Given the description of an element on the screen output the (x, y) to click on. 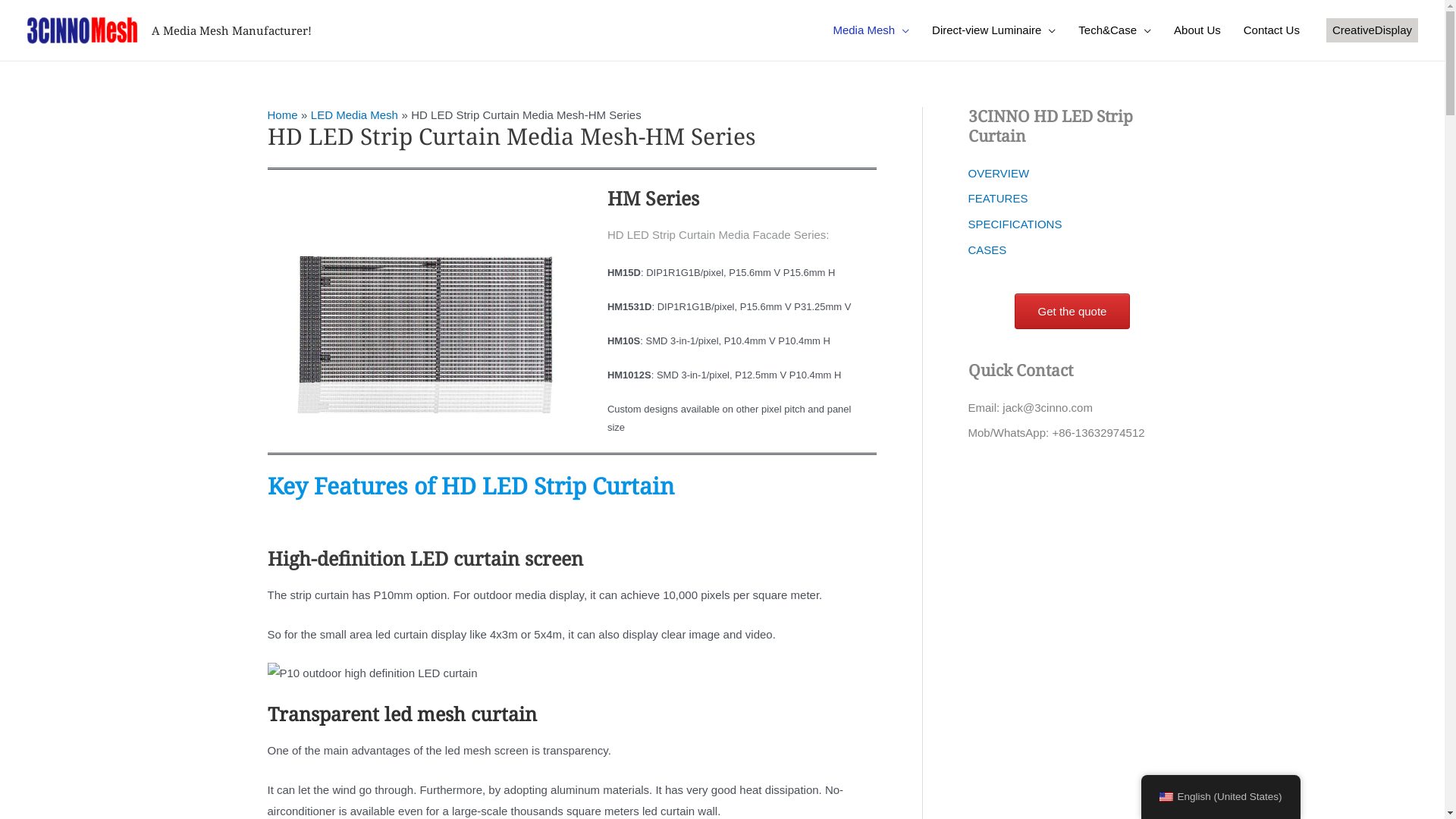
A Media Mesh Manufacturer! Element type: text (231, 29)
SPECIFICATIONS Element type: text (1014, 223)
Get the quote Element type: text (1072, 311)
LED Media Mesh Element type: text (354, 114)
Home Element type: text (281, 114)
CASES Element type: text (986, 249)
CreativeDisplay Element type: text (1372, 30)
English (United States) Element type: hover (1166, 796)
FEATURES Element type: text (997, 197)
English (United States) Element type: text (1220, 796)
Tech&Case Element type: text (1114, 29)
About Us Element type: text (1197, 29)
Direct-view Luminaire Element type: text (993, 29)
Media Mesh Element type: text (870, 29)
OVERVIEW Element type: text (998, 172)
Contact Us Element type: text (1271, 29)
